Given the description of an element on the screen output the (x, y) to click on. 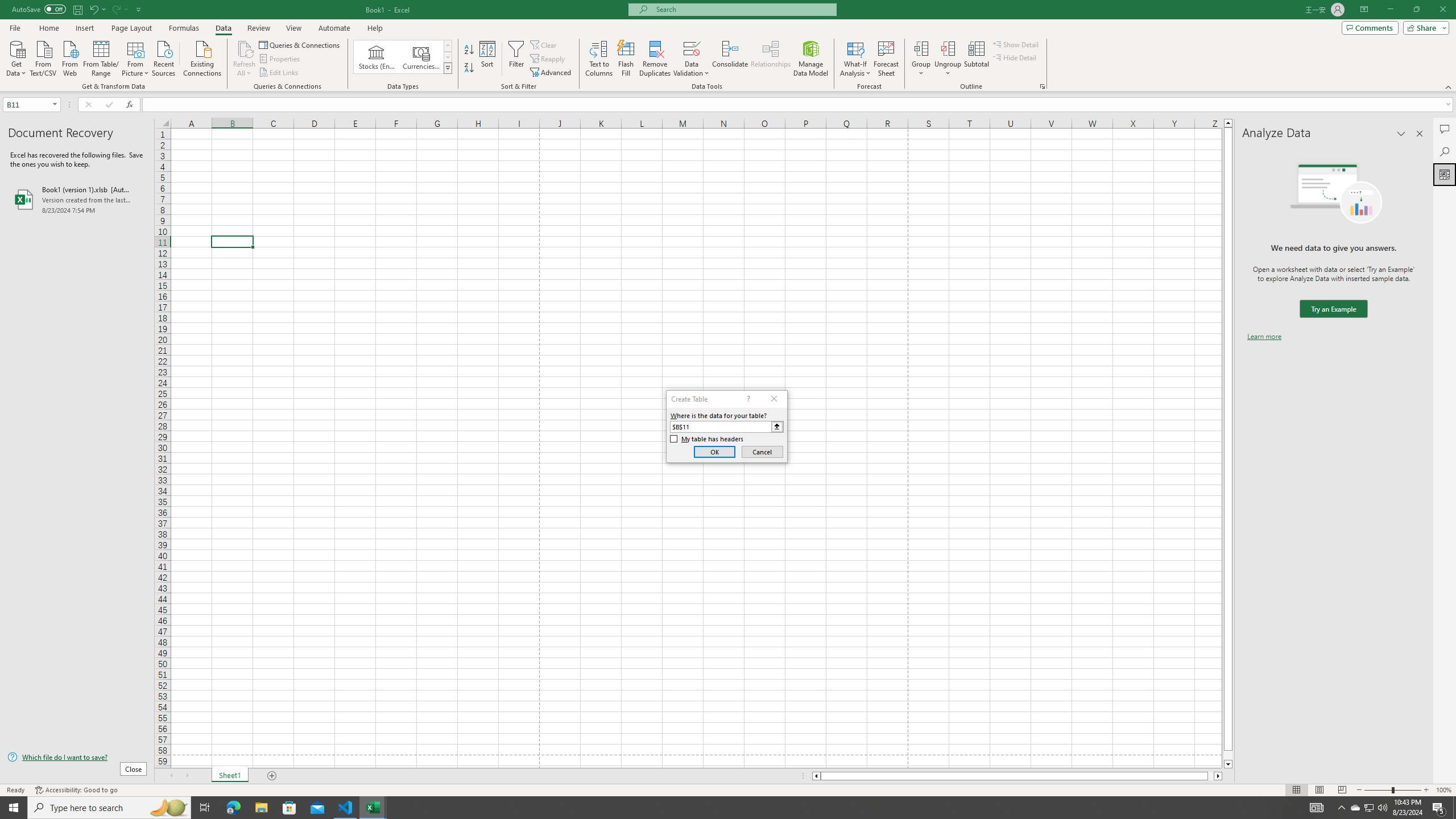
Close pane (1419, 133)
Which file do I want to save? (77, 757)
AutoSave (38, 9)
Ungroup... (947, 58)
Class: MsoCommandBar (728, 45)
Recent Sources (163, 57)
Row Down (448, 56)
Page right (1211, 775)
Show Detail (1016, 44)
